Given the description of an element on the screen output the (x, y) to click on. 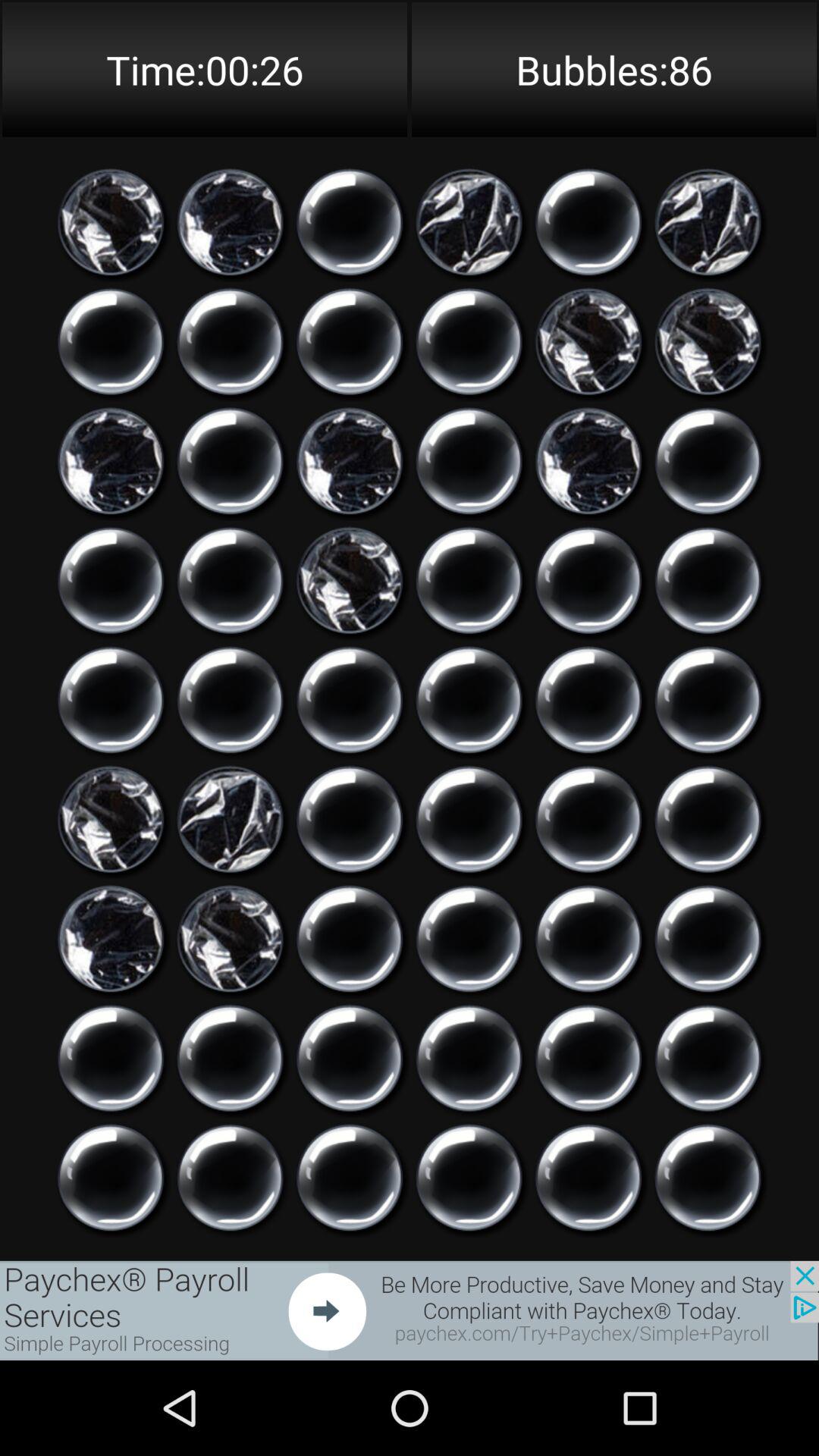
burst bubble (349, 1058)
